Given the description of an element on the screen output the (x, y) to click on. 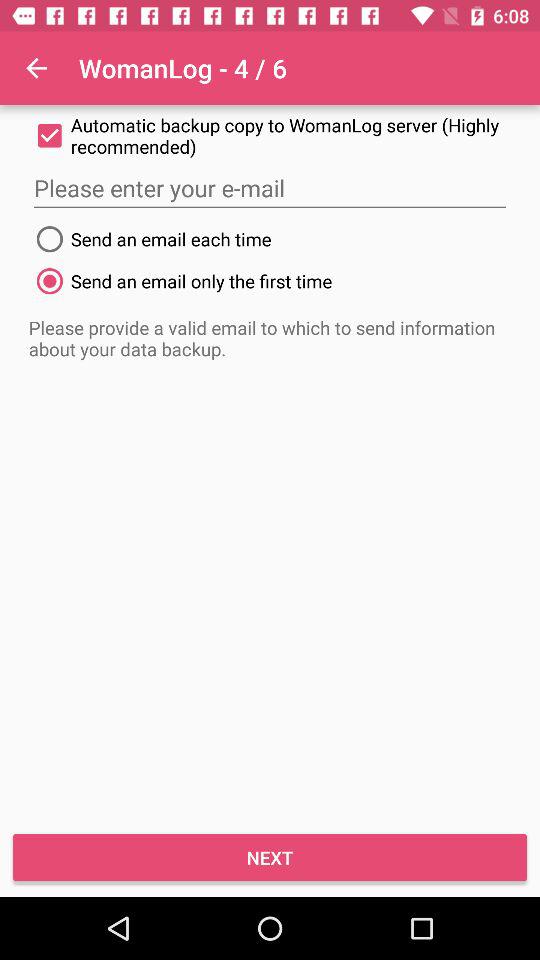
jump to the next (269, 857)
